Given the description of an element on the screen output the (x, y) to click on. 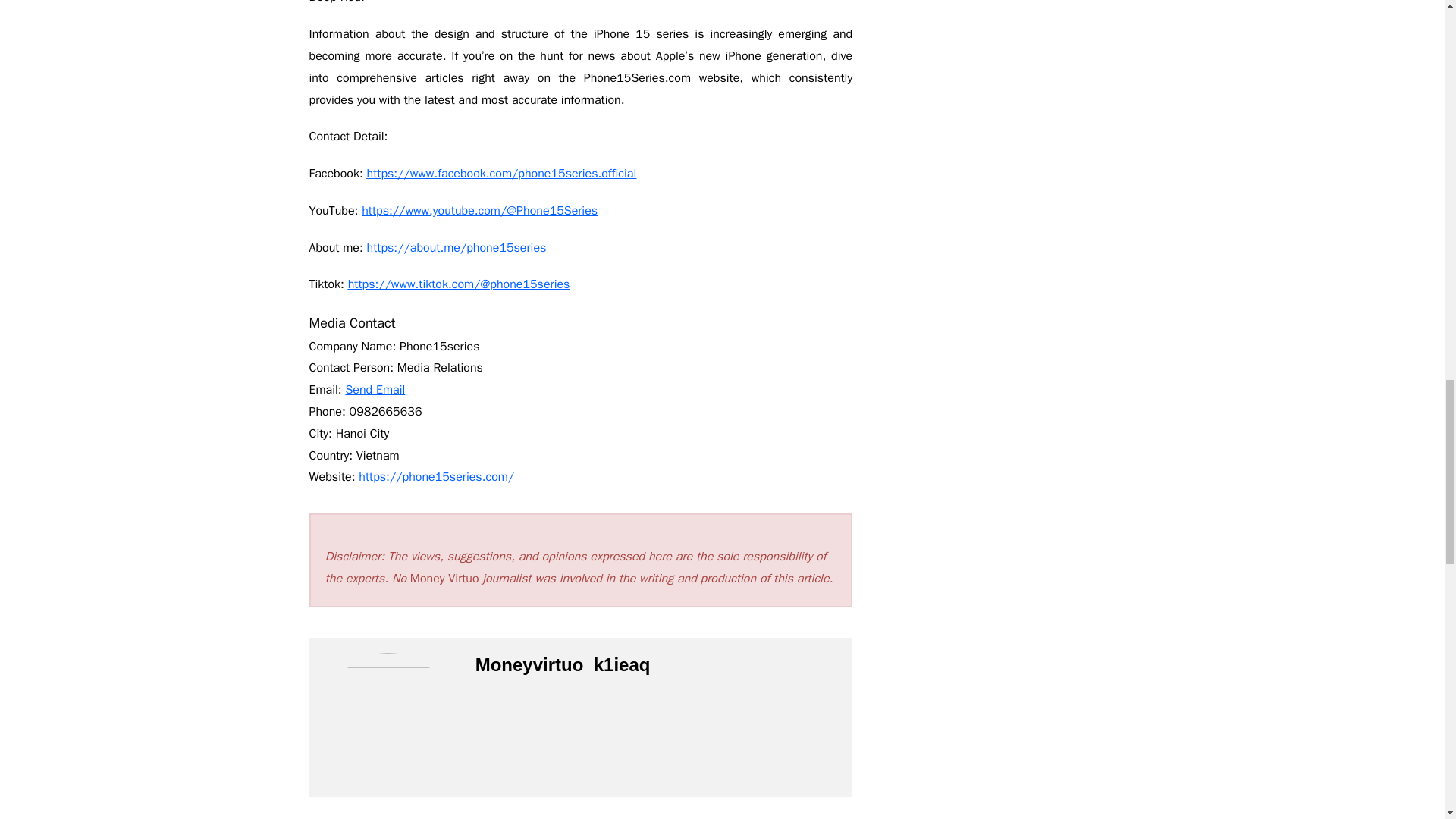
Send Email (374, 389)
